Given the description of an element on the screen output the (x, y) to click on. 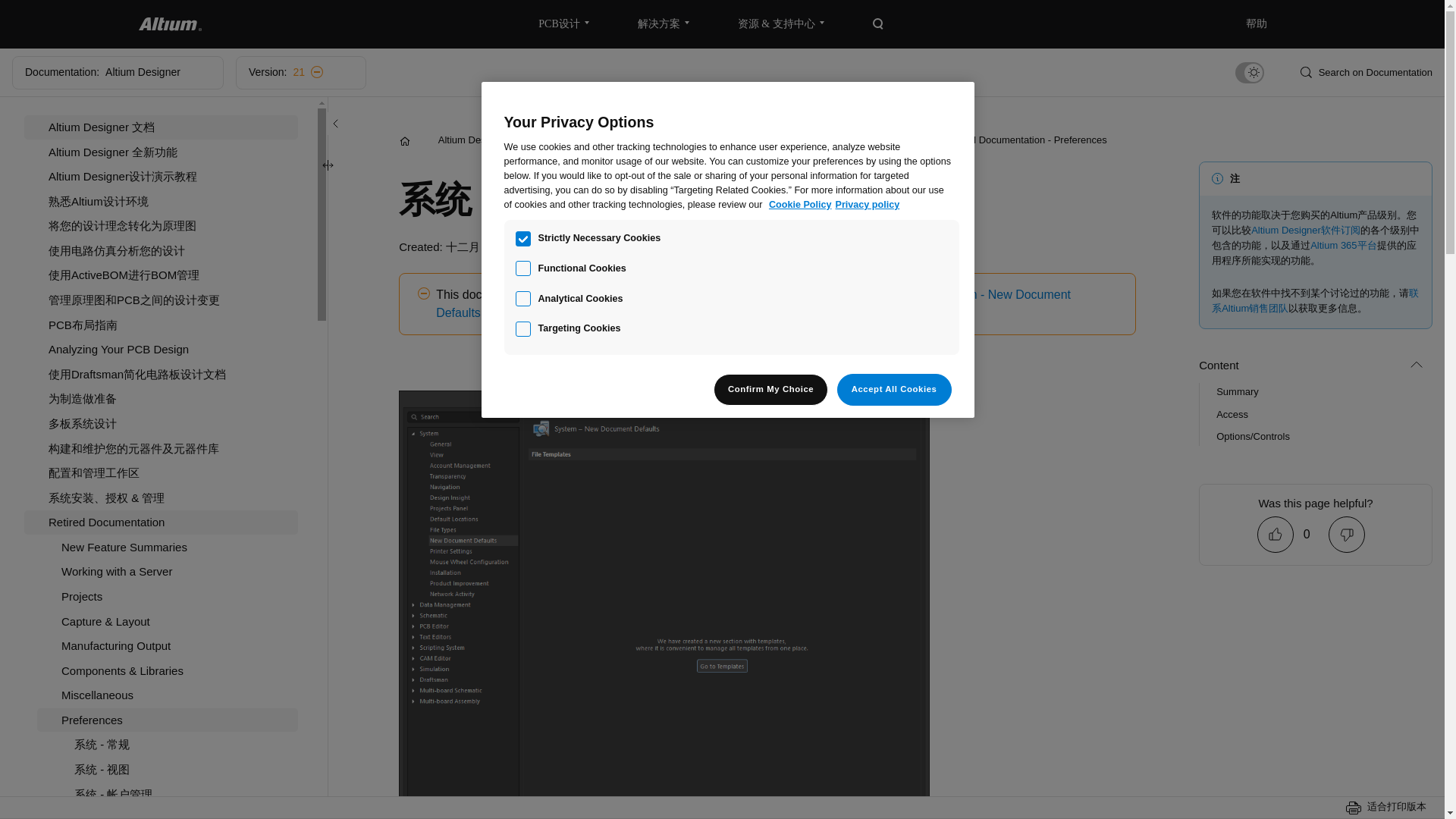
Search Open (877, 24)
